Given the description of an element on the screen output the (x, y) to click on. 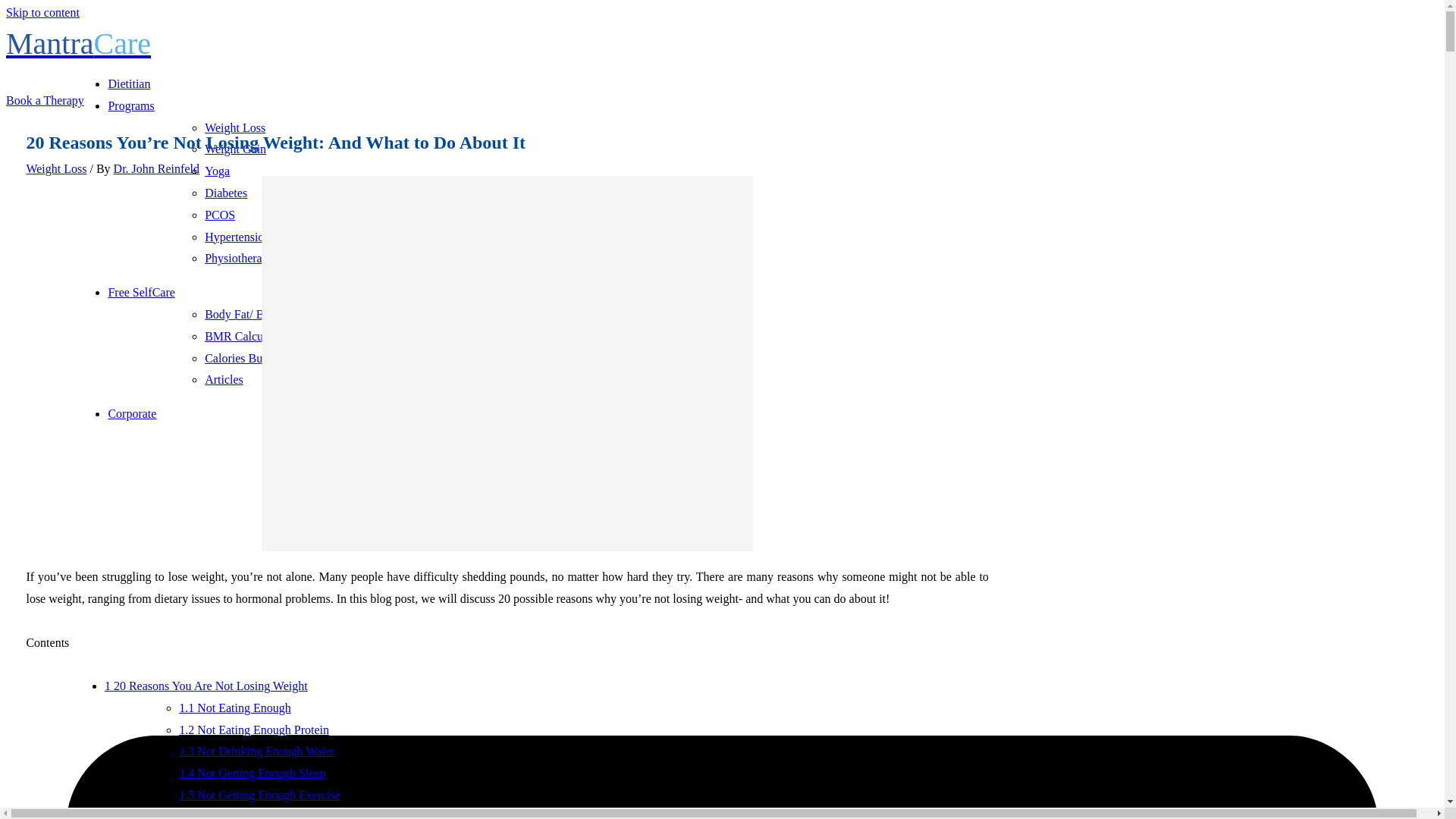
MantraCare (78, 43)
Free SelfCare (140, 291)
1.3 Not Drinking Enough Water (256, 750)
Book a Therapy (44, 100)
PCOS (219, 214)
Weight Loss (234, 127)
Diabetes (226, 192)
Dr. John Reinfeld (156, 168)
View all posts by Dr. John Reinfeld (156, 168)
1 20 Reasons You Are Not Losing Weight (205, 685)
